Given the description of an element on the screen output the (x, y) to click on. 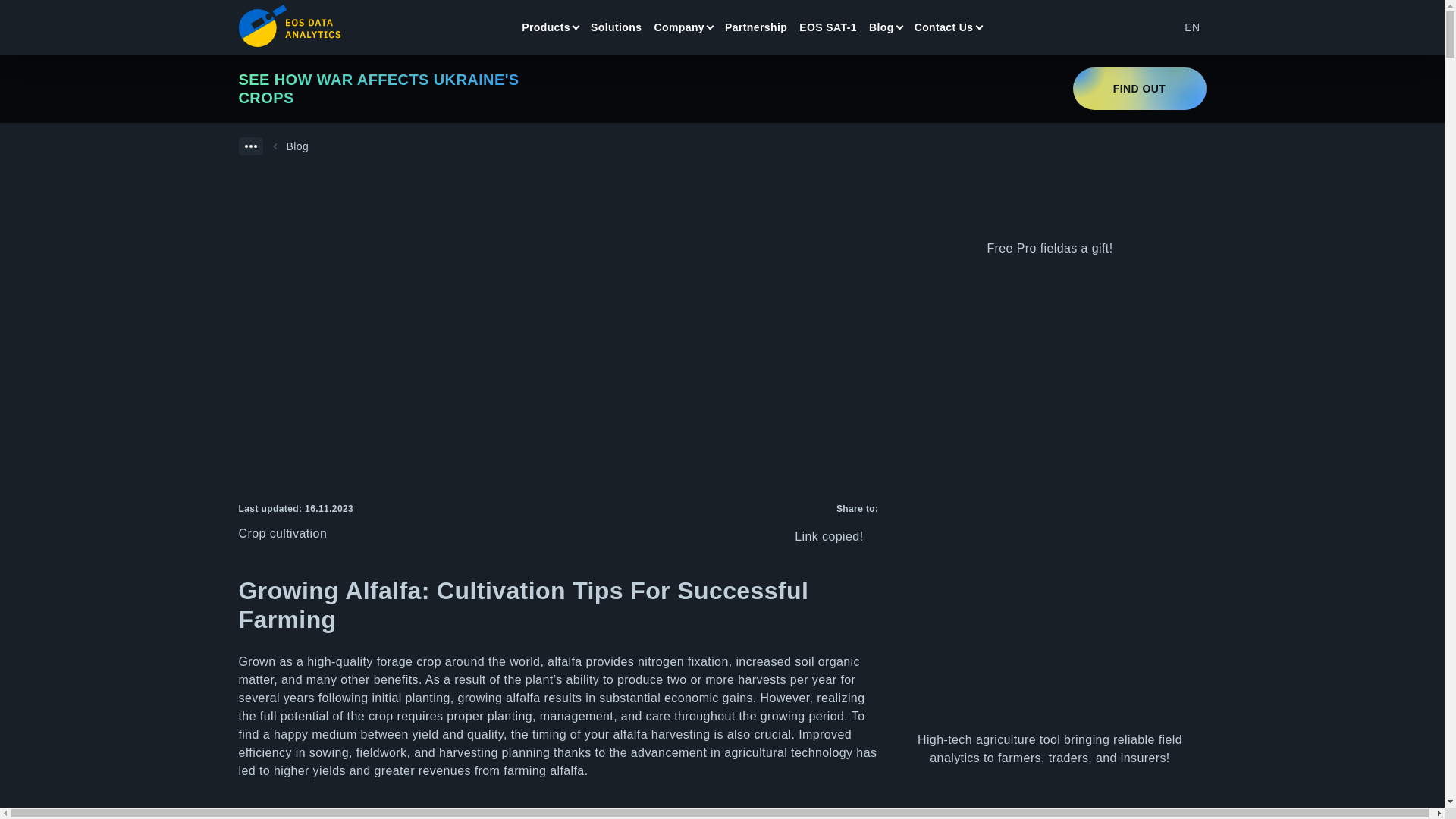
Company (678, 27)
Earth Observing System (288, 25)
Products (545, 27)
Solutions (616, 27)
EOSDA (288, 25)
